Given the description of an element on the screen output the (x, y) to click on. 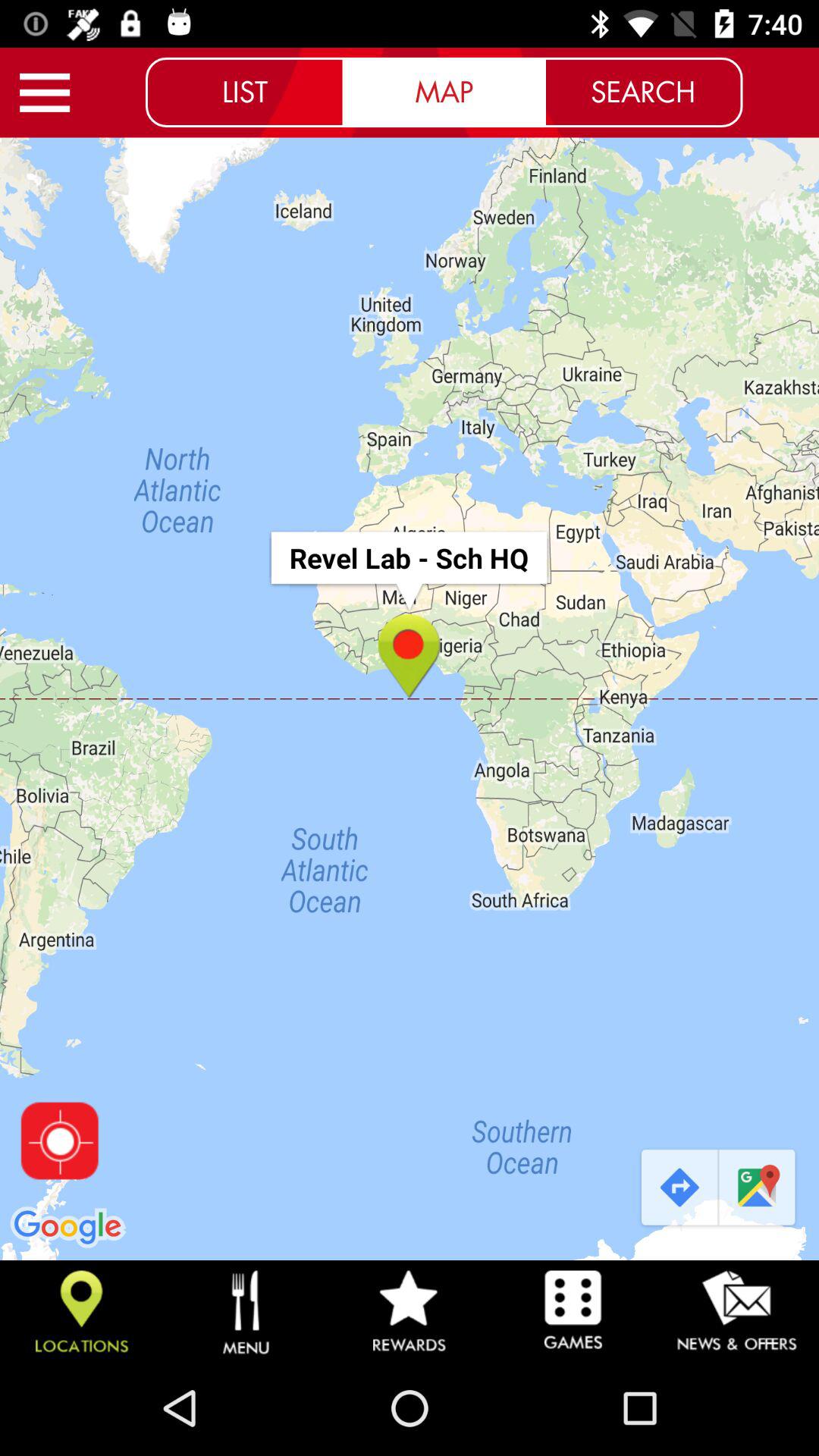
find current location (59, 1140)
